Given the description of an element on the screen output the (x, y) to click on. 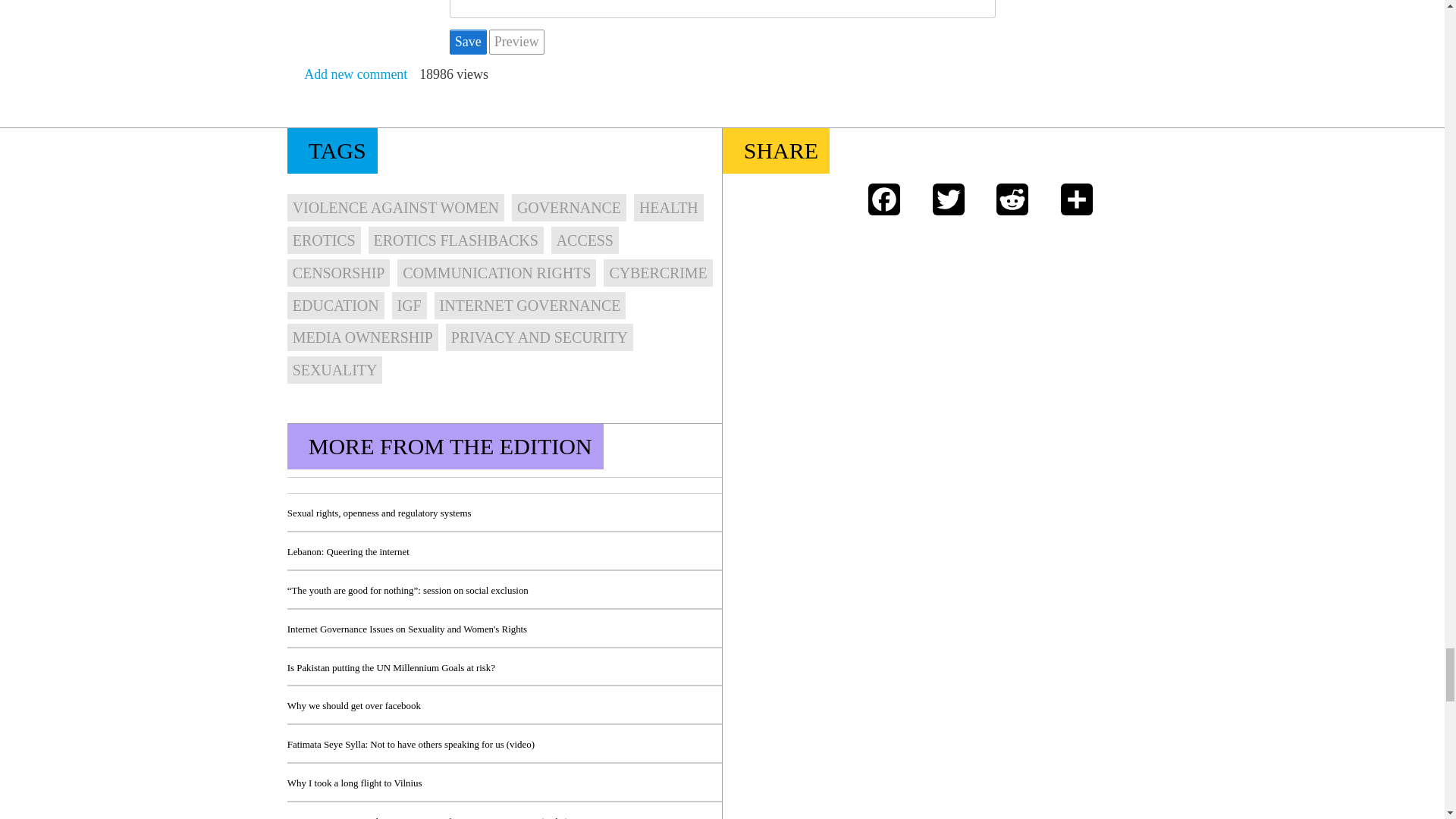
GOVERNANCE (569, 207)
Preview (515, 41)
Add new comment (355, 73)
EROTICS (323, 239)
Save (467, 41)
Share your thoughts and opinions. (355, 73)
Save (467, 41)
EROTICS FLASHBACKS (455, 239)
VIOLENCE AGAINST WOMEN (394, 207)
Preview (515, 41)
